Given the description of an element on the screen output the (x, y) to click on. 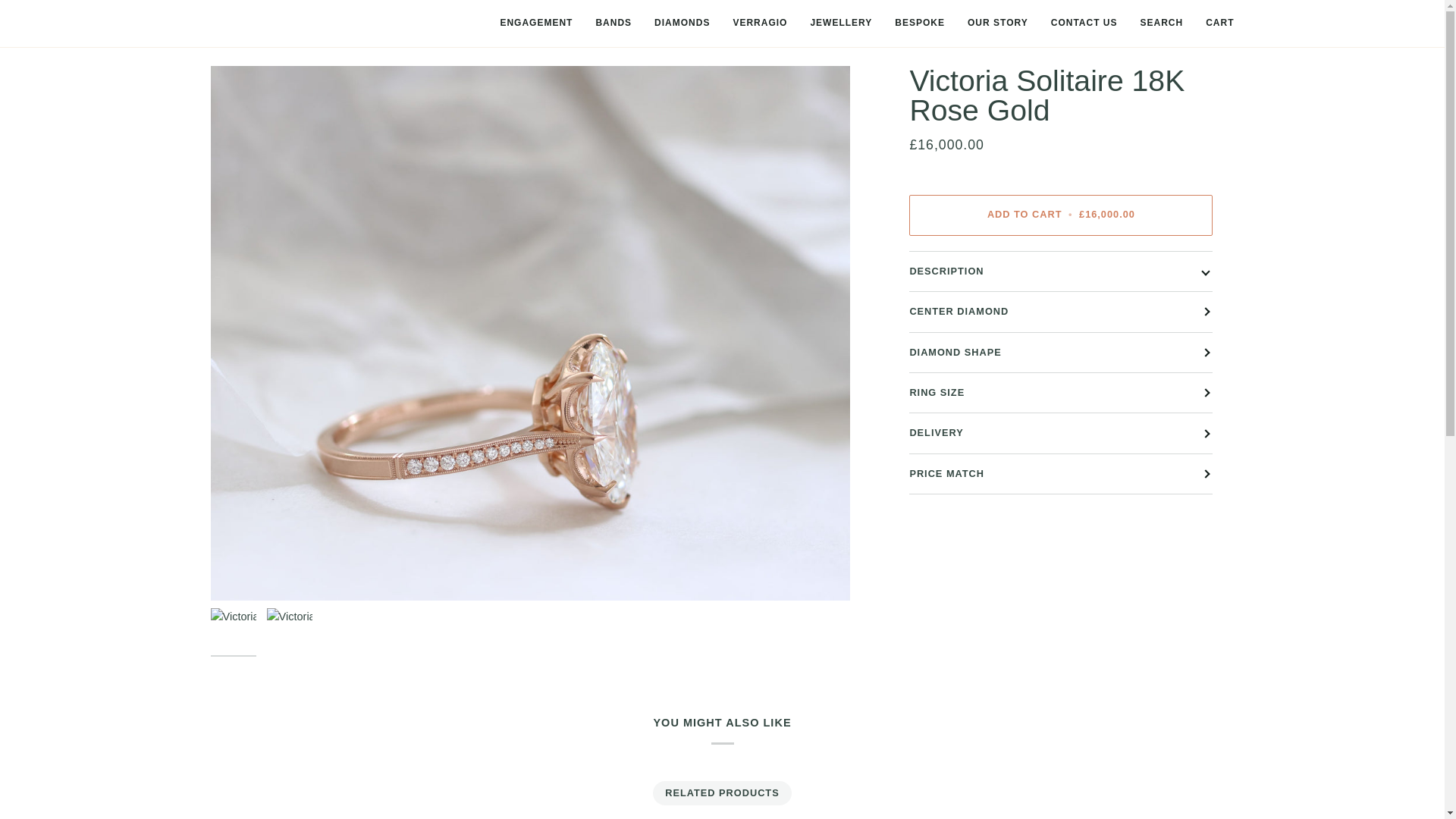
BESPOKE (919, 23)
VERRAGIO (758, 23)
BANDS (613, 23)
CART (1218, 23)
JEWELLERY (840, 23)
RELATED PRODUCTS (722, 793)
CONTACT US (1084, 23)
ENGAGEMENT (535, 23)
DIAMONDS (681, 23)
SEARCH (1160, 23)
OUR STORY (997, 23)
